Given the description of an element on the screen output the (x, y) to click on. 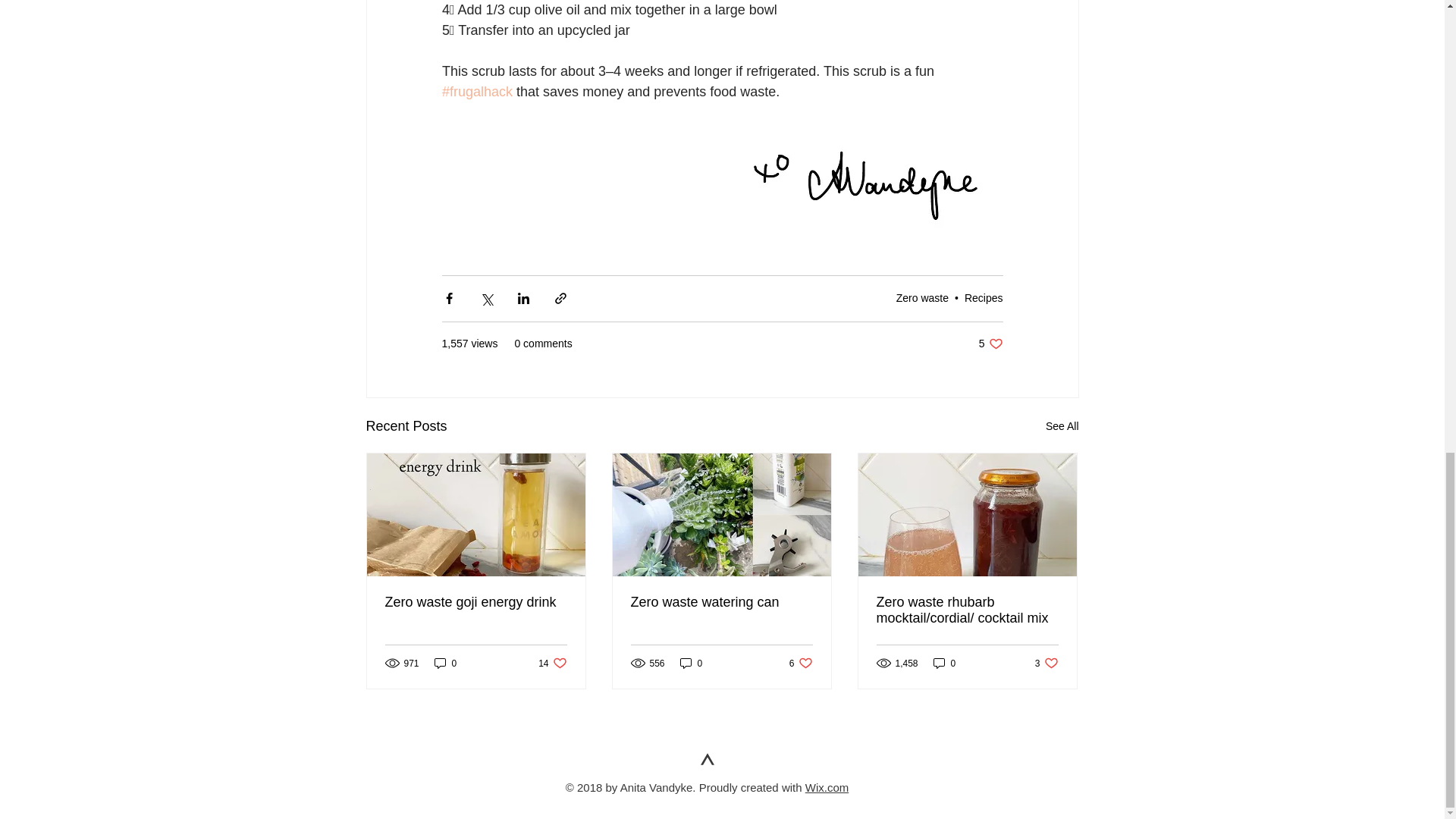
0 (691, 663)
Zero waste goji energy drink (1046, 663)
Zero waste (800, 663)
0 (476, 602)
Zero waste watering can (922, 297)
Recipes (445, 663)
See All (552, 663)
